Given the description of an element on the screen output the (x, y) to click on. 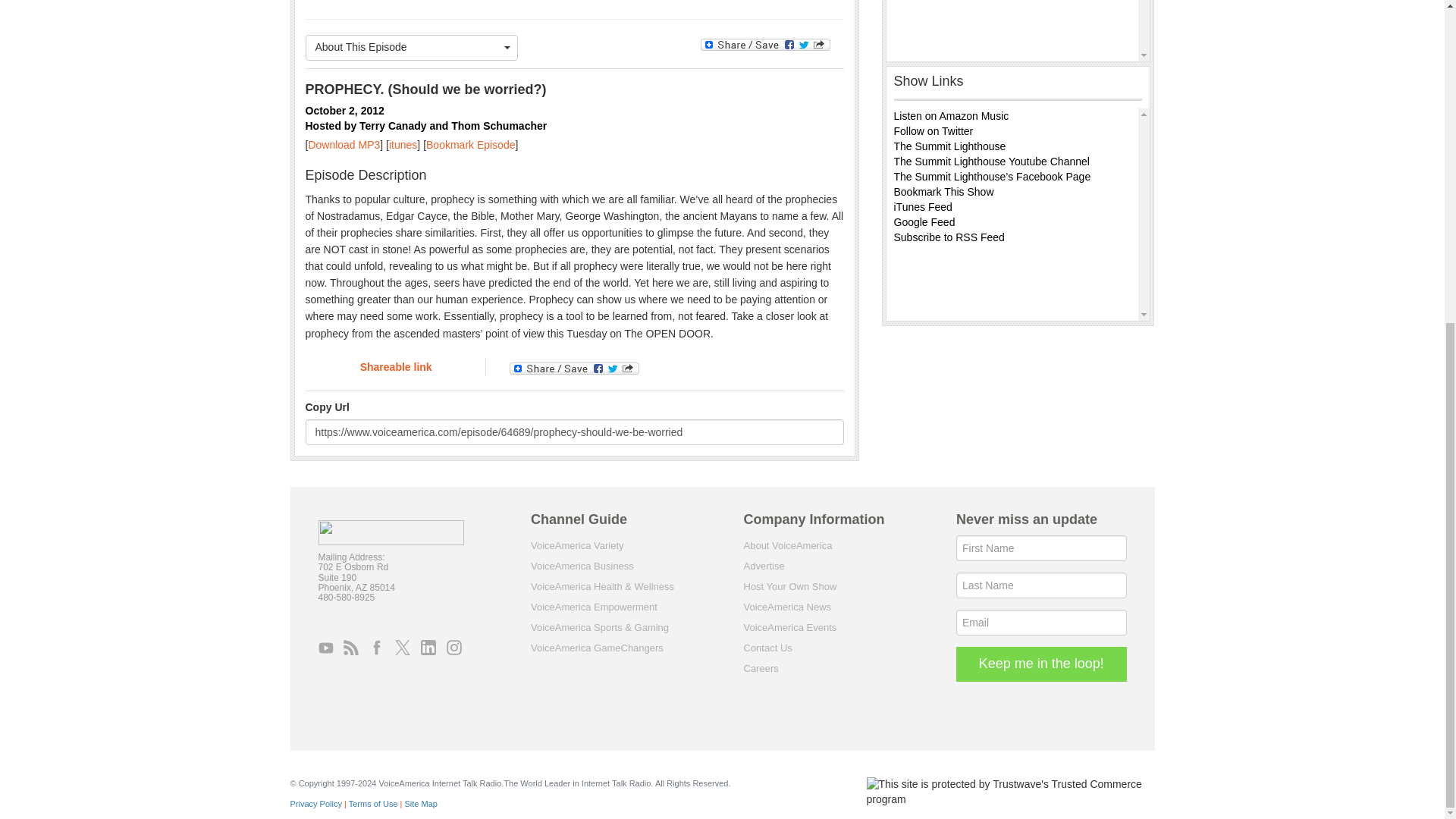
Download MP3 (343, 144)
Bookmark Episode (470, 144)
itunes (402, 144)
About This Episode (411, 47)
